Given the description of an element on the screen output the (x, y) to click on. 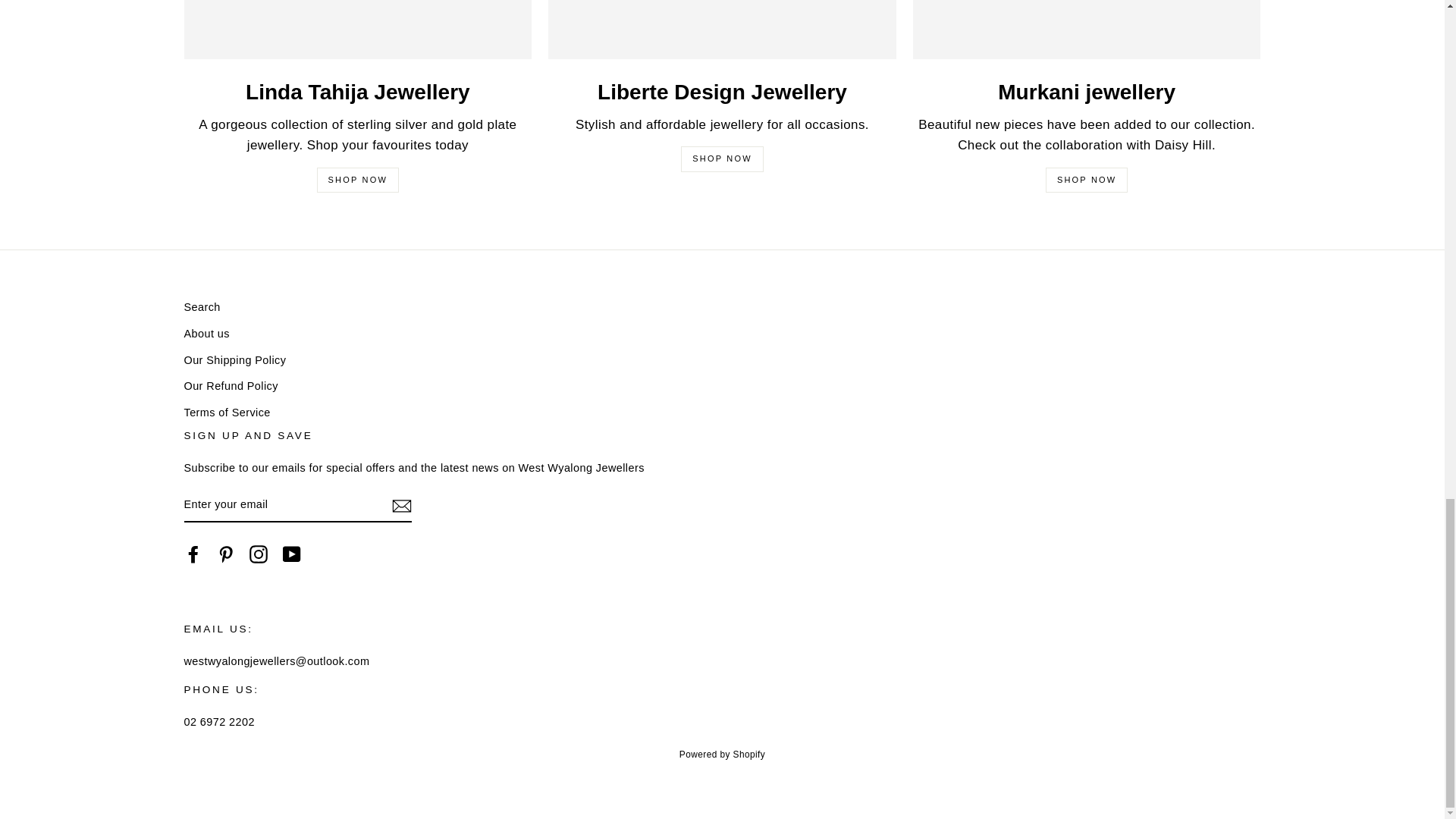
West Wyalong Jewellers on YouTube (291, 554)
West Wyalong Jewellers on Instagram (257, 554)
West Wyalong Jewellers on Pinterest (225, 554)
West Wyalong Jewellers on Facebook (192, 554)
